Given the description of an element on the screen output the (x, y) to click on. 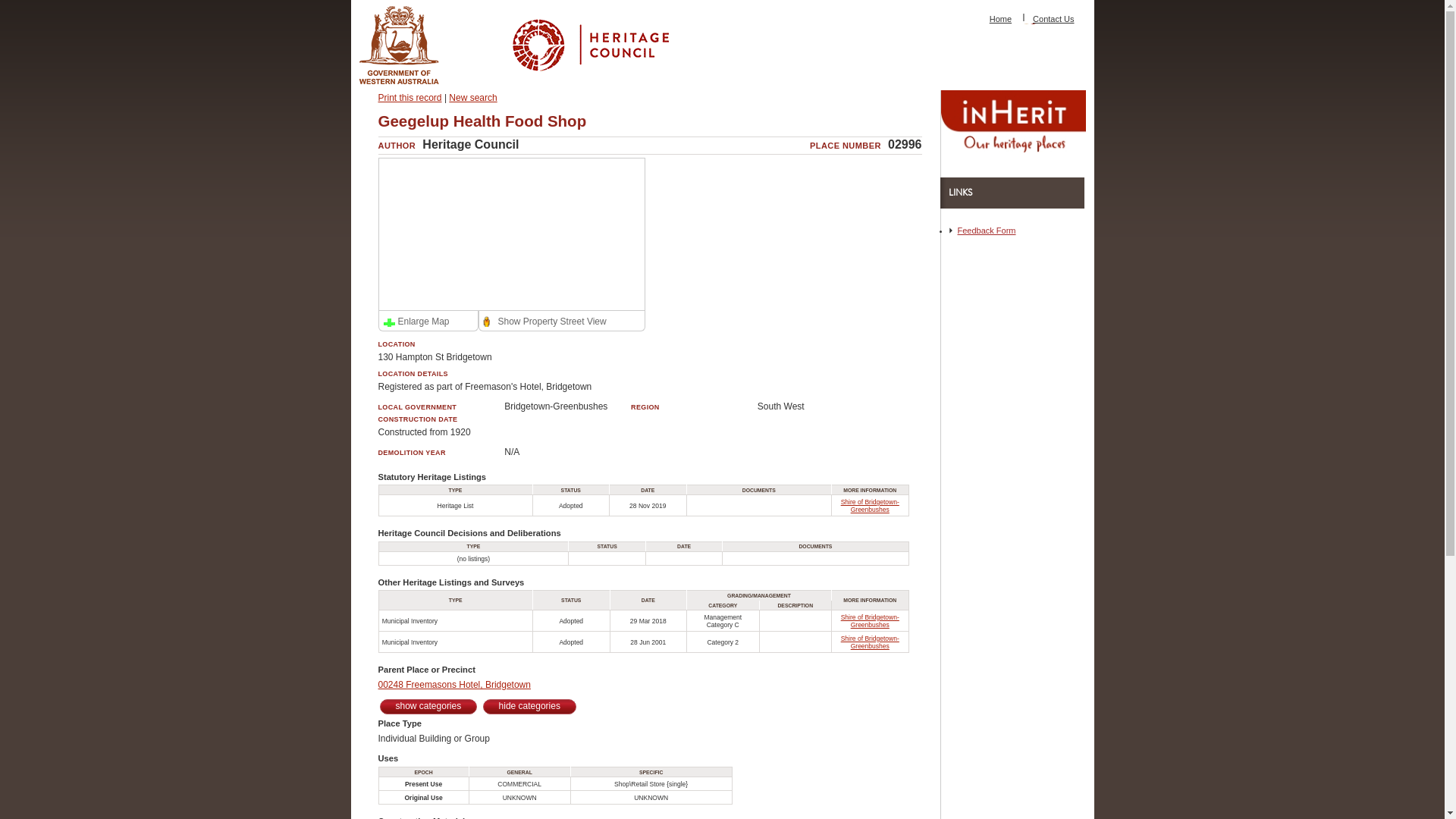
Enlarge Map Element type: text (415, 321)
show categories Element type: text (427, 706)
Shire of Bridgetown-Greenbushes Element type: text (869, 620)
Shire of Bridgetown-Greenbushes Element type: text (869, 505)
Shire of Bridgetown-Greenbushes Element type: text (869, 641)
Feedback Form Element type: text (986, 230)
Contact Us Element type: text (1052, 18)
00248 Freemasons Hotel, Bridgetown Element type: text (453, 684)
Show Property Street View Element type: text (543, 321)
Print this record Element type: text (409, 97)
hide categories Element type: text (529, 706)
Home Element type: text (1000, 18)
New search Element type: text (472, 97)
